Given the description of an element on the screen output the (x, y) to click on. 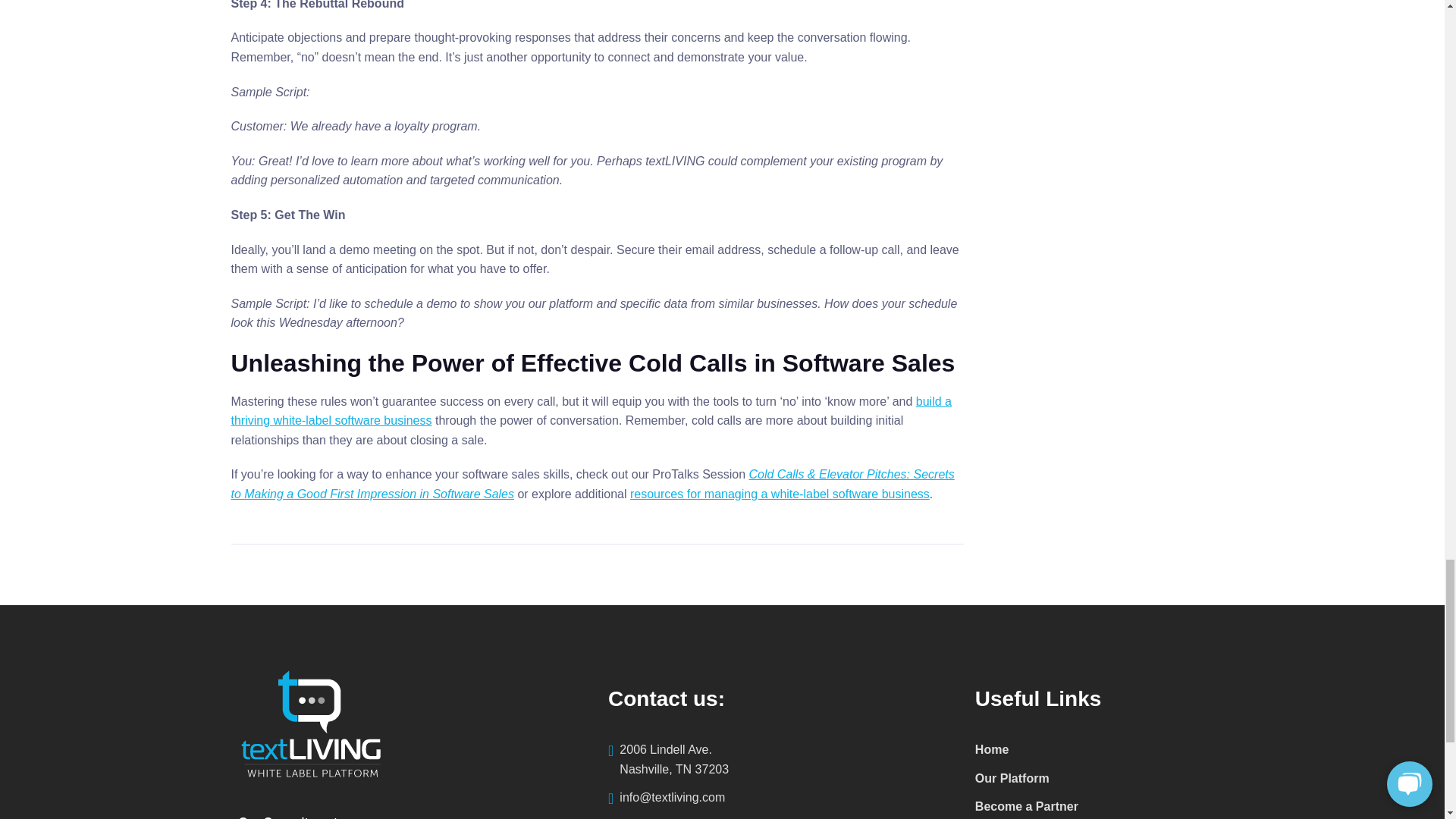
Our Platform (1012, 779)
resources for managing a white-label software business (780, 493)
Home (992, 751)
Become a Partner (1026, 806)
build a thriving white-label software business (777, 759)
